Given the description of an element on the screen output the (x, y) to click on. 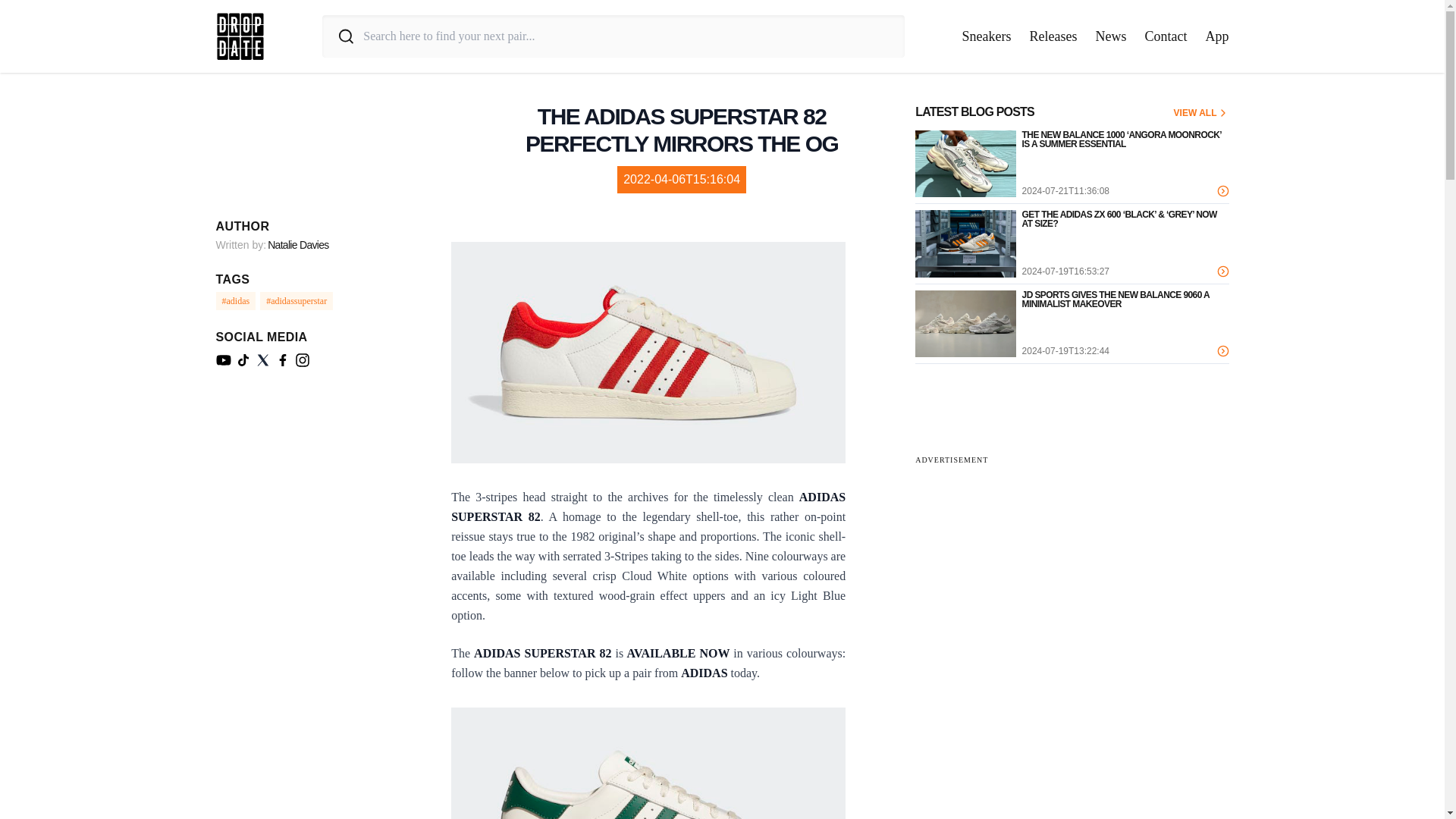
Releases (1053, 36)
Contact (1166, 36)
Sneakers (986, 36)
App (1216, 36)
VIEW ALL (1200, 112)
News (1109, 36)
